Given the description of an element on the screen output the (x, y) to click on. 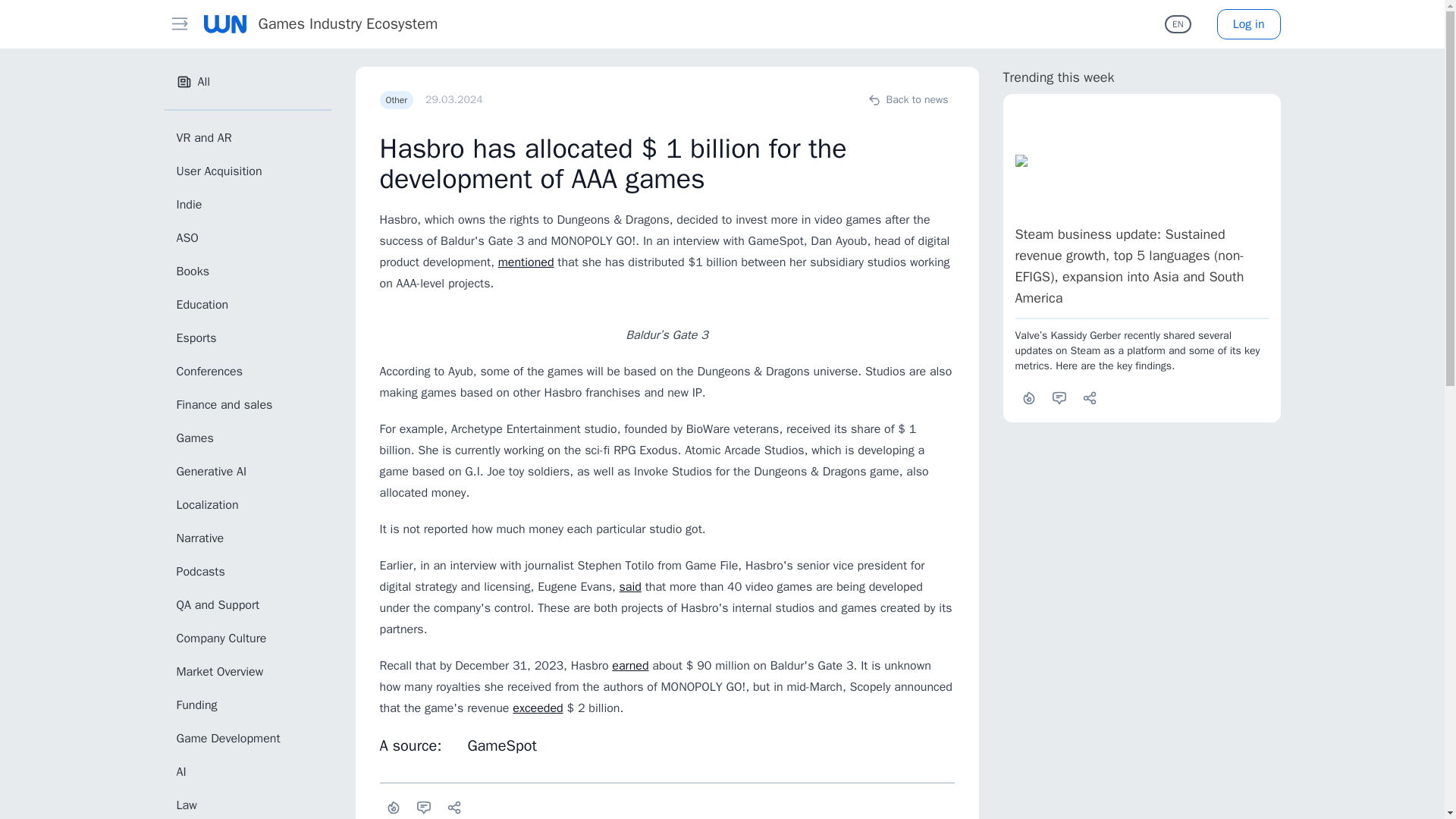
Localization (246, 504)
All (246, 81)
Finance and sales (246, 404)
Company Culture (246, 638)
Funding (246, 705)
ASO (246, 237)
Share (1088, 397)
Share (453, 807)
Comments (422, 807)
Games (246, 438)
Log in (1249, 24)
Esports (246, 337)
Law (246, 804)
Game Development (246, 738)
Communication Platform (224, 23)
